Given the description of an element on the screen output the (x, y) to click on. 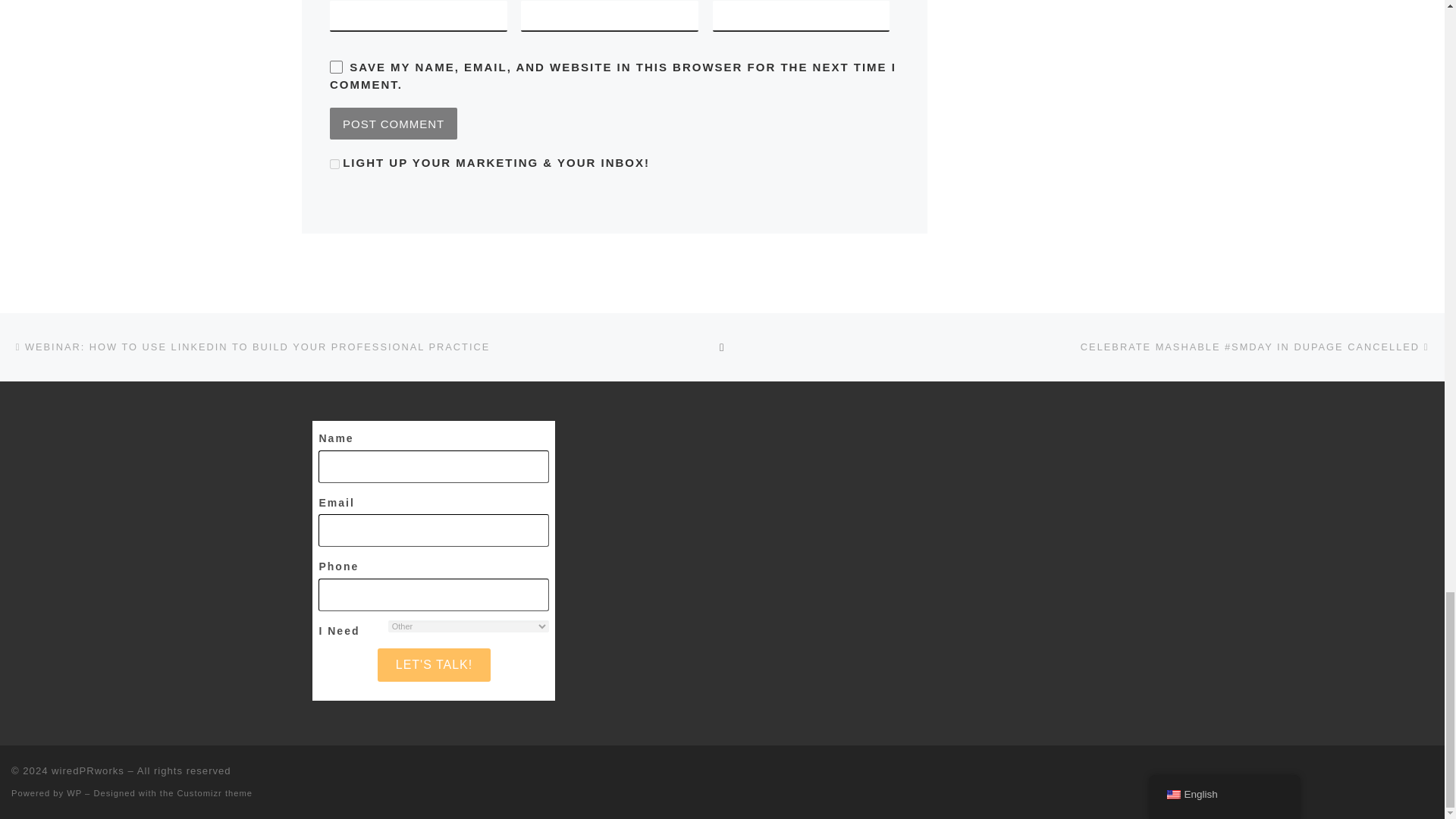
Let's Talk! (434, 664)
1 (334, 163)
yes (336, 66)
Post Comment (393, 123)
